Given the description of an element on the screen output the (x, y) to click on. 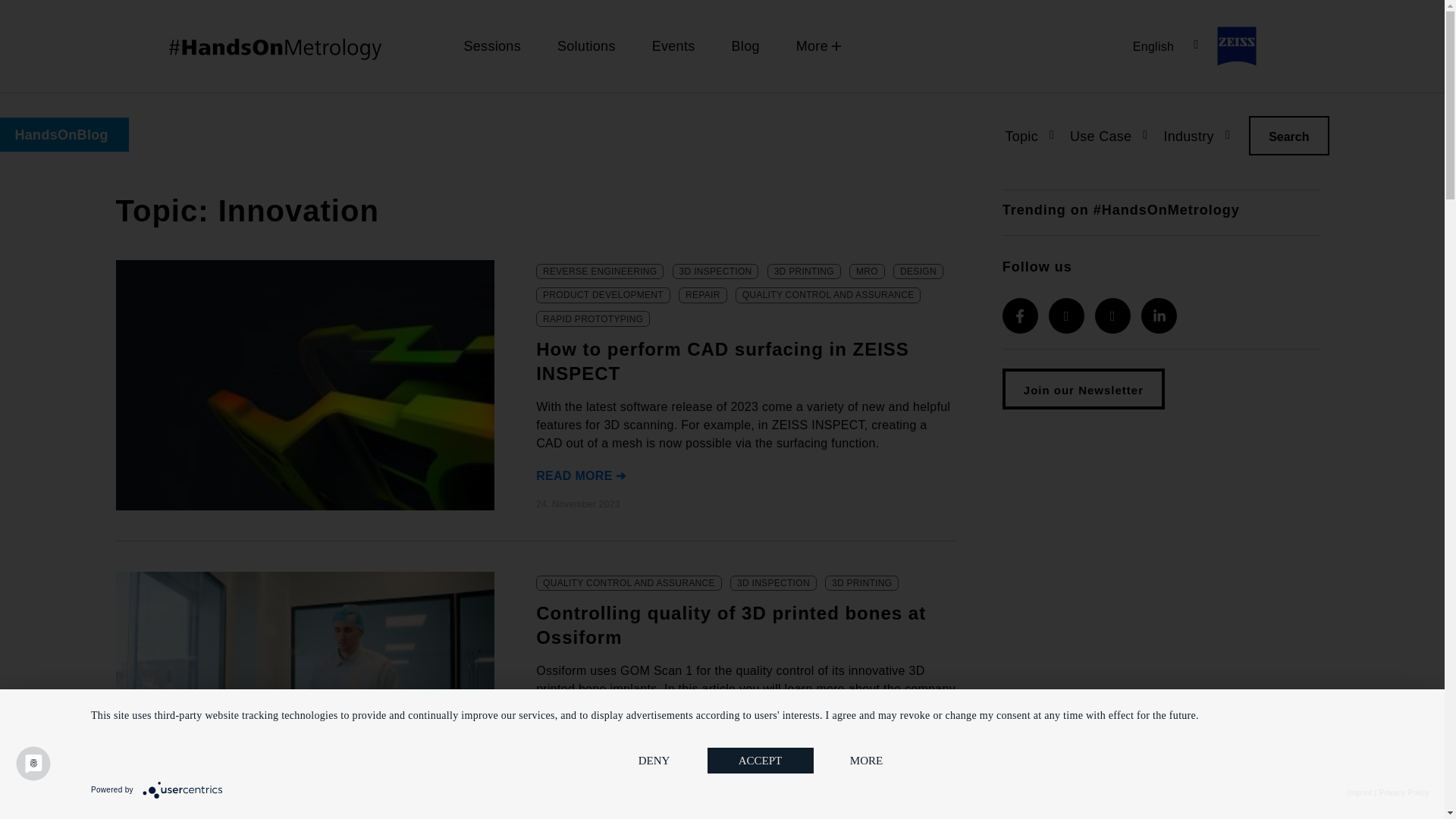
Search (1288, 135)
Sessions (491, 46)
Events (673, 46)
More (811, 46)
Blog (745, 46)
English (1165, 46)
Solutions (585, 46)
